Given the description of an element on the screen output the (x, y) to click on. 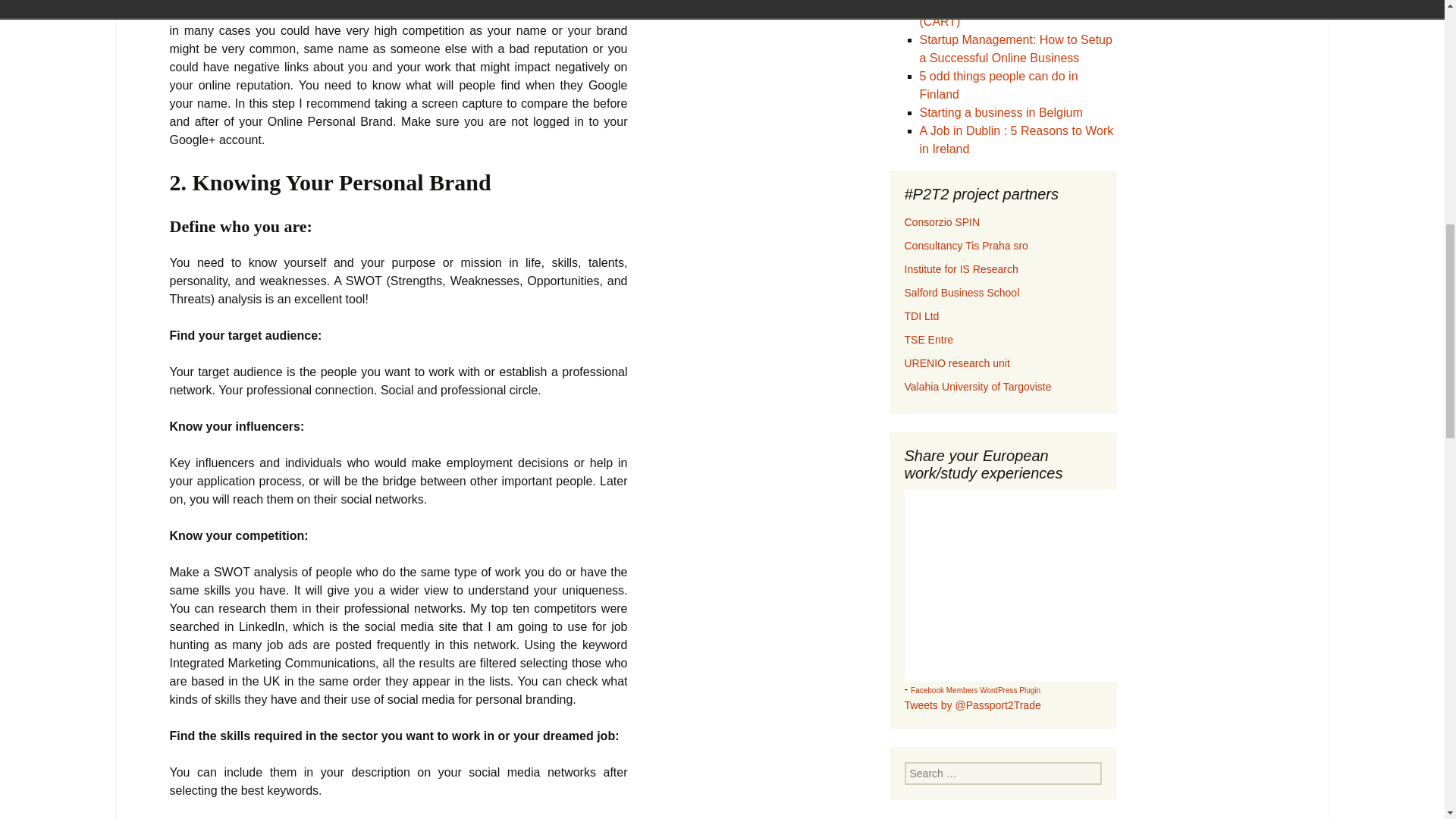
Look Starting a business in Belgium (999, 112)
Look 5 odd things people can do in Finland (997, 84)
